Given the description of an element on the screen output the (x, y) to click on. 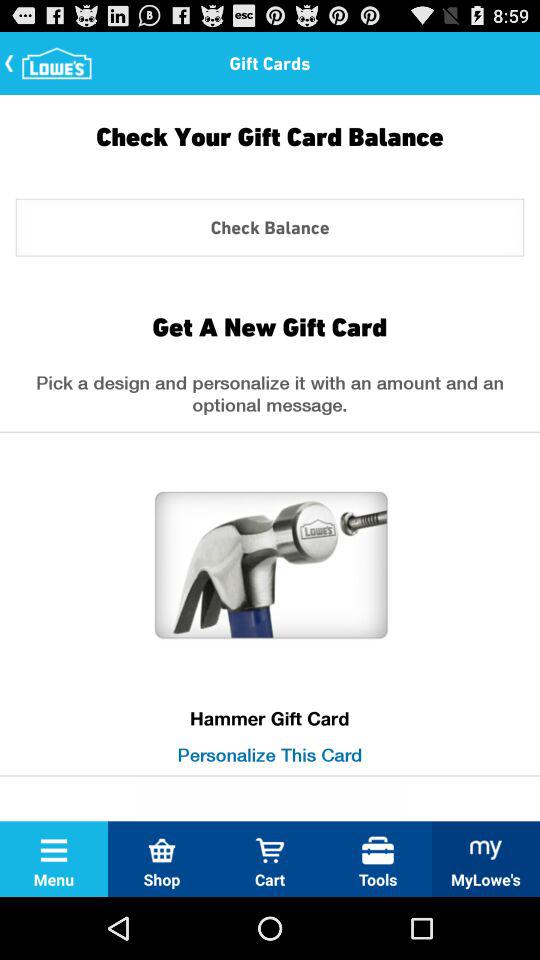
select the item below check balance (269, 326)
